Given the description of an element on the screen output the (x, y) to click on. 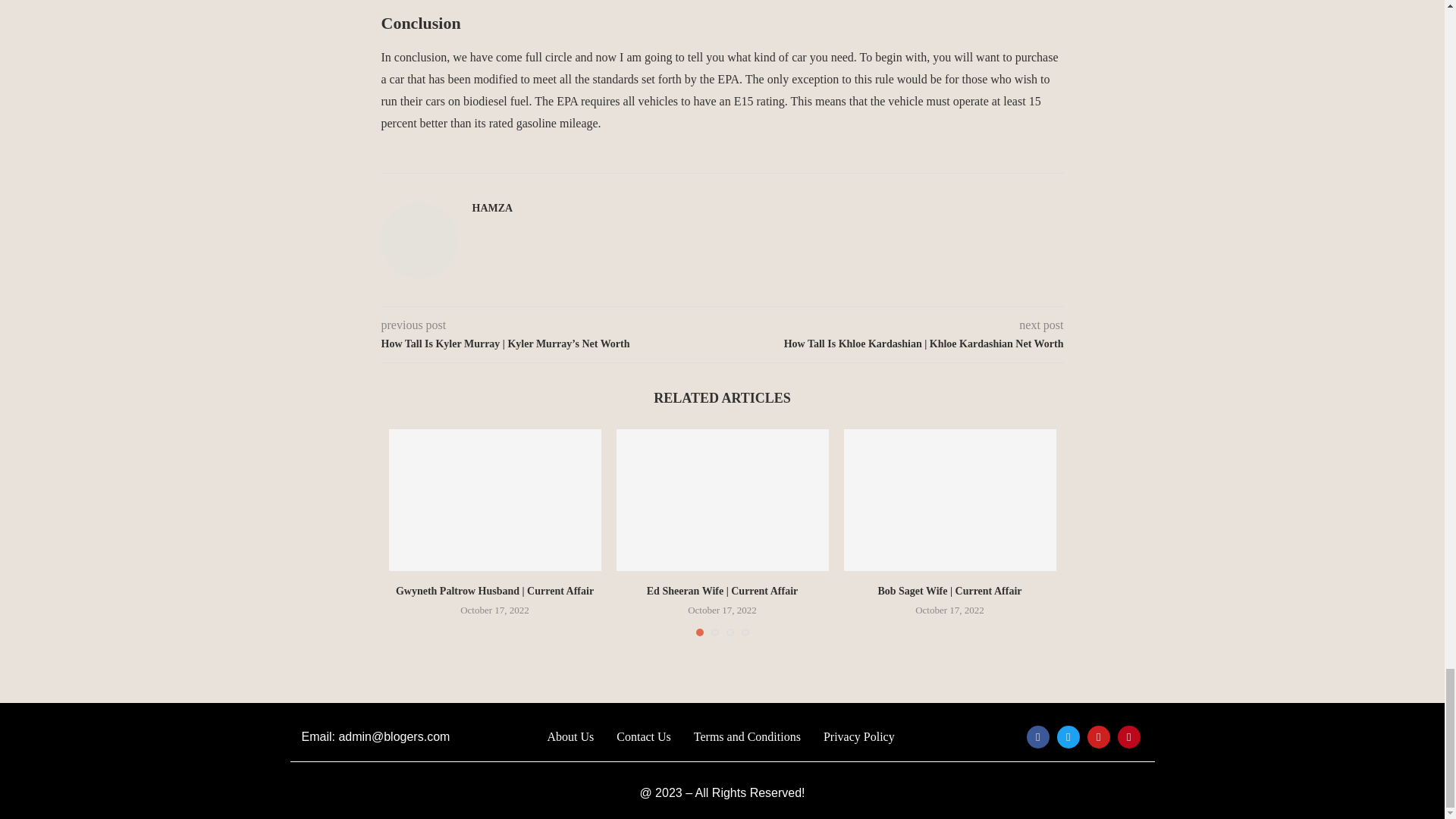
Author Hamza (491, 208)
